Given the description of an element on the screen output the (x, y) to click on. 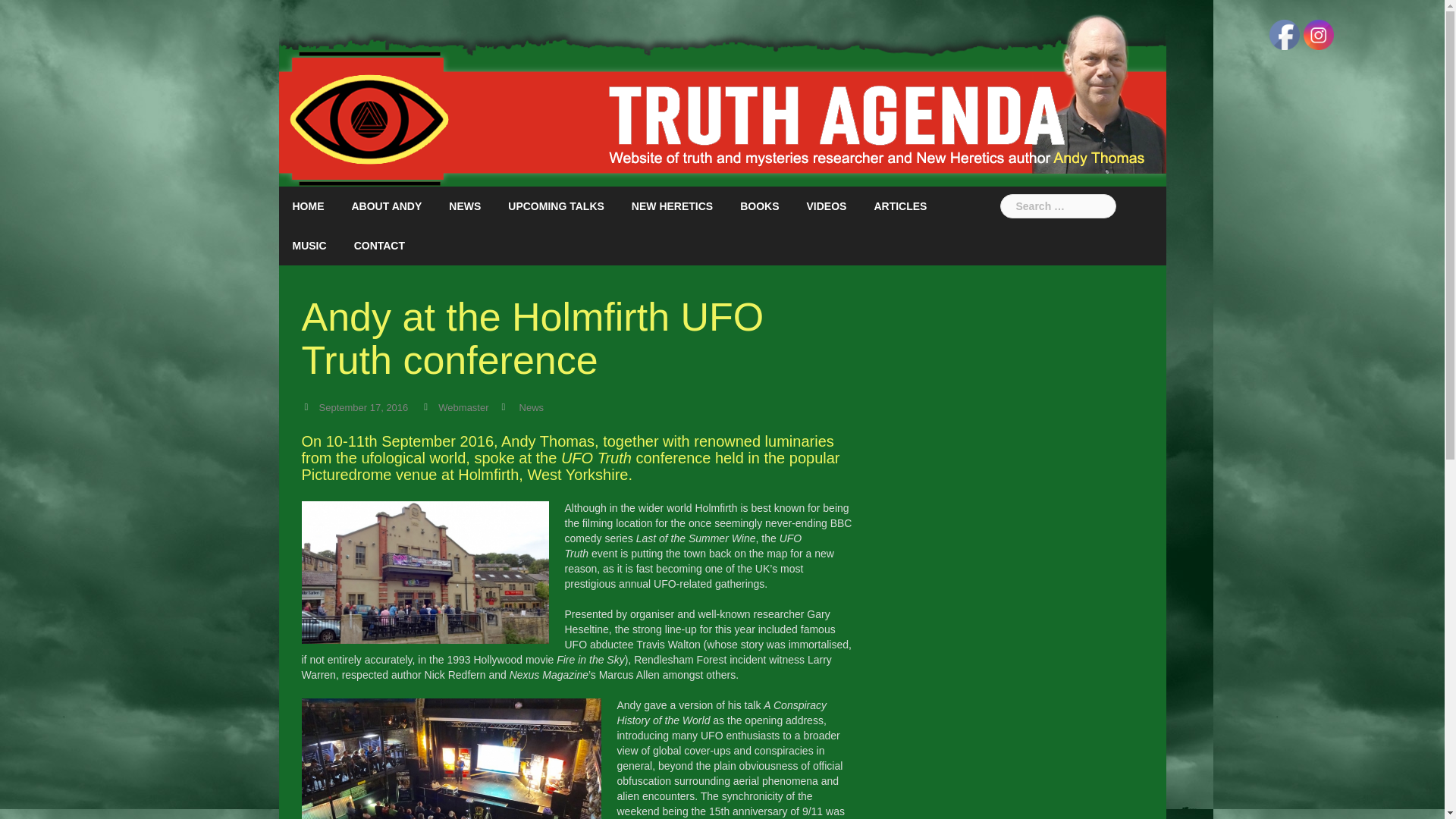
News (531, 408)
CONTACT (378, 245)
BOOKS (758, 206)
HOME (308, 206)
September 17, 2016 (362, 408)
NEWS (464, 206)
Instagram (1318, 34)
UPCOMING TALKS (556, 206)
ABOUT ANDY (387, 206)
Webmaster (462, 408)
Truth Agenda (722, 92)
Facebook (1284, 34)
ARTICLES (899, 206)
MUSIC (309, 245)
VIDEOS (826, 206)
